Given the description of an element on the screen output the (x, y) to click on. 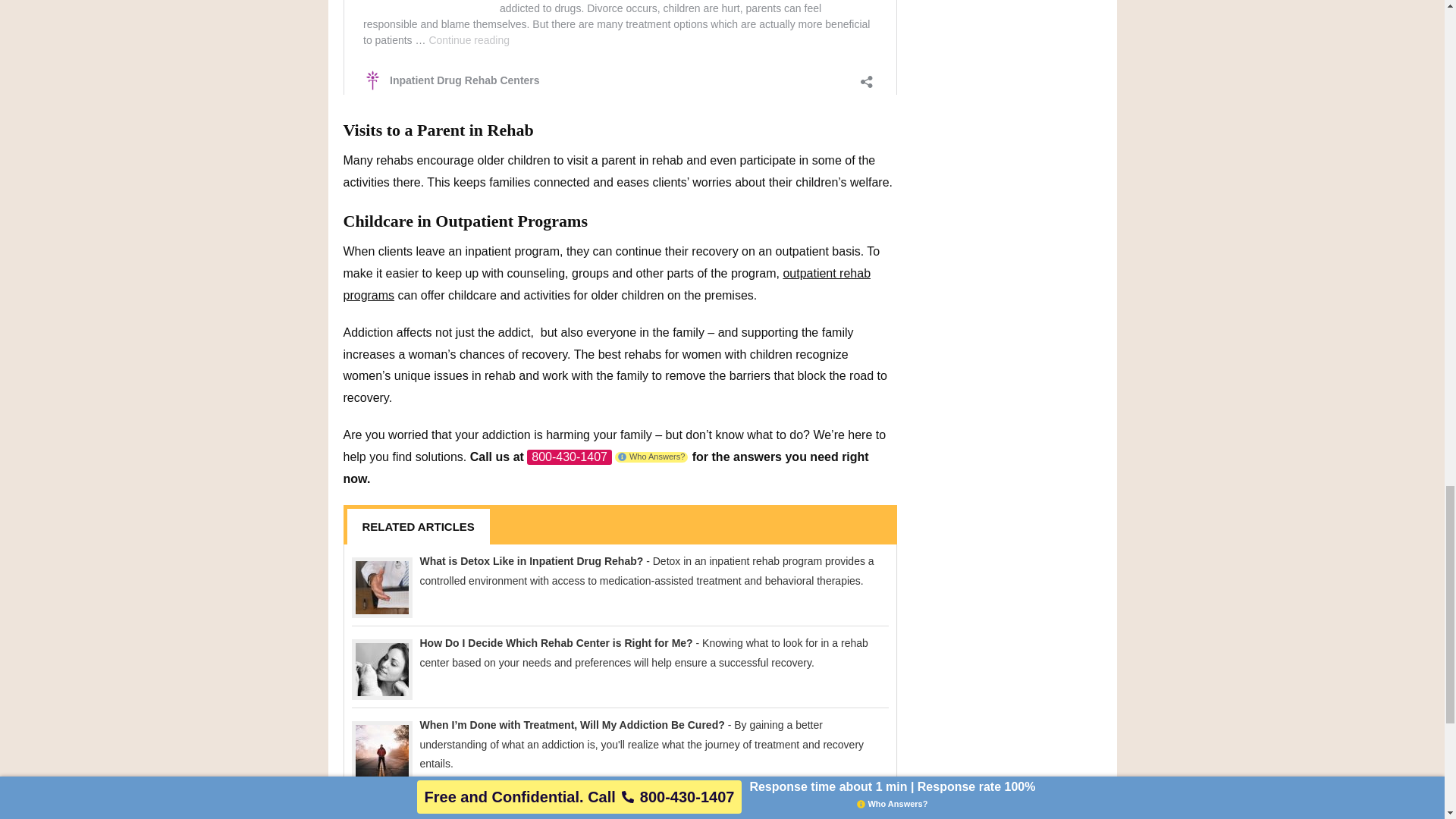
outpatient rehab programs (606, 284)
800-430-1407 (569, 457)
